Given the description of an element on the screen output the (x, y) to click on. 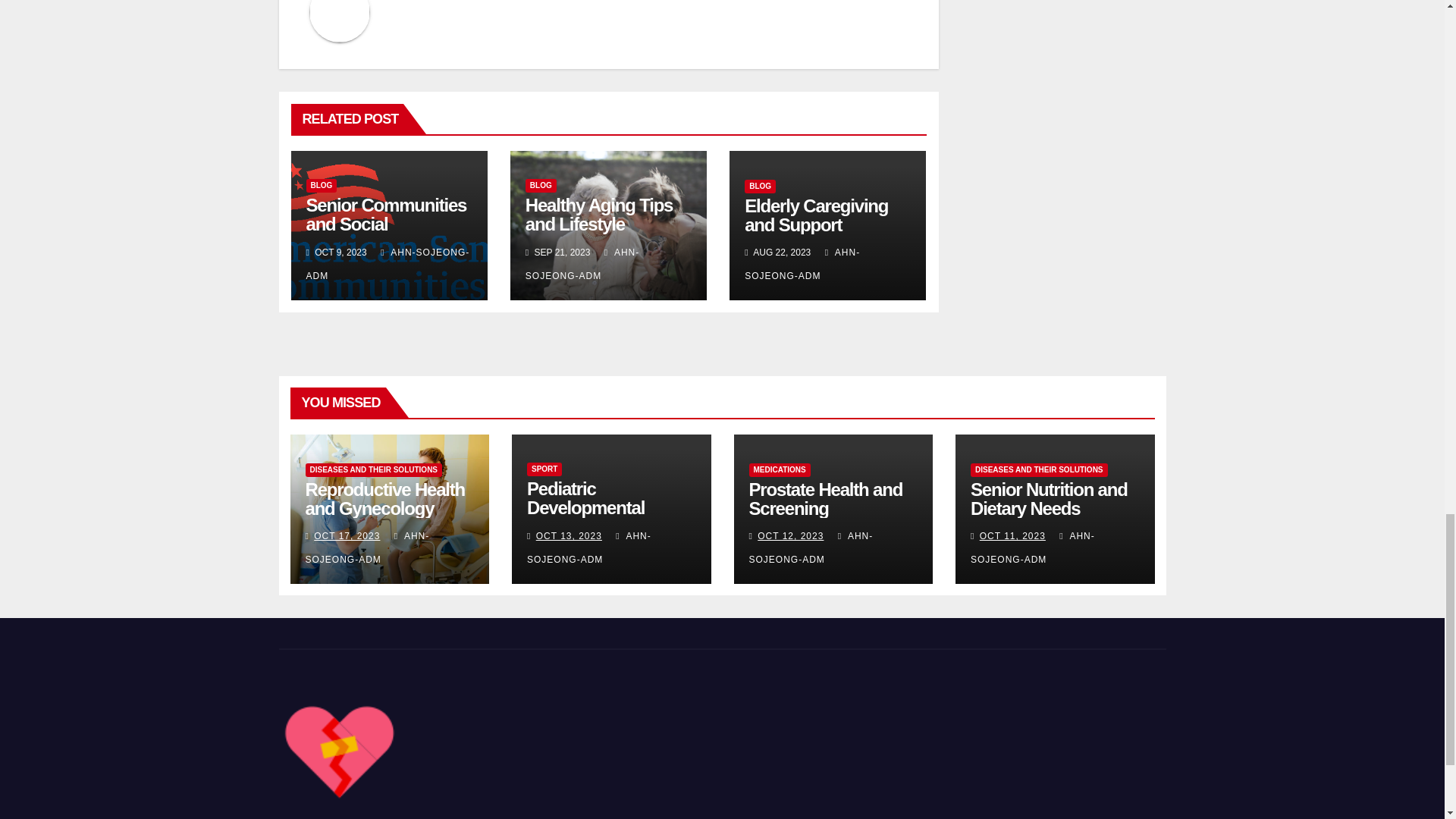
BLOG (540, 185)
Senior Communities and Social Engagement (386, 223)
Healthy Aging Tips and Lifestyle Changes (598, 223)
Permalink to: Healthy Aging Tips and Lifestyle Changes (598, 223)
AHN-SOJEONG-ADM (387, 264)
BLOG (760, 186)
Permalink to: Reproductive Health and Gynecology (384, 498)
Permalink to: Prostate Health and Screening (825, 498)
Elderly Caregiving and Support (816, 215)
Permalink to: Pediatric Developmental Milestones (586, 507)
